Given the description of an element on the screen output the (x, y) to click on. 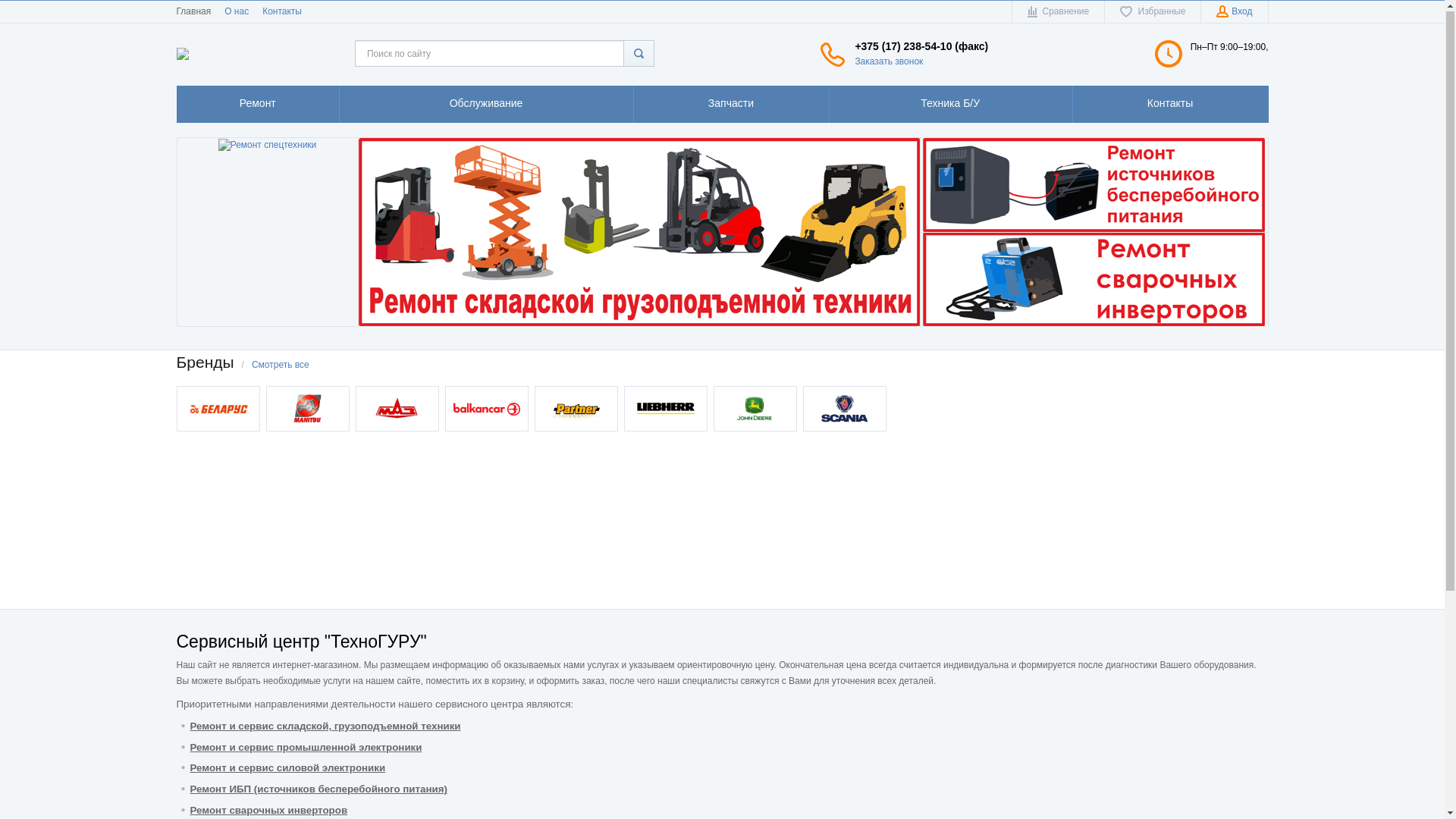
Balcancar Element type: hover (486, 409)
Manitou Element type: hover (307, 409)
Scania Element type: hover (844, 409)
John Deer Element type: hover (754, 409)
Partner Element type: hover (575, 409)
Liebherr Element type: hover (665, 409)
